Given the description of an element on the screen output the (x, y) to click on. 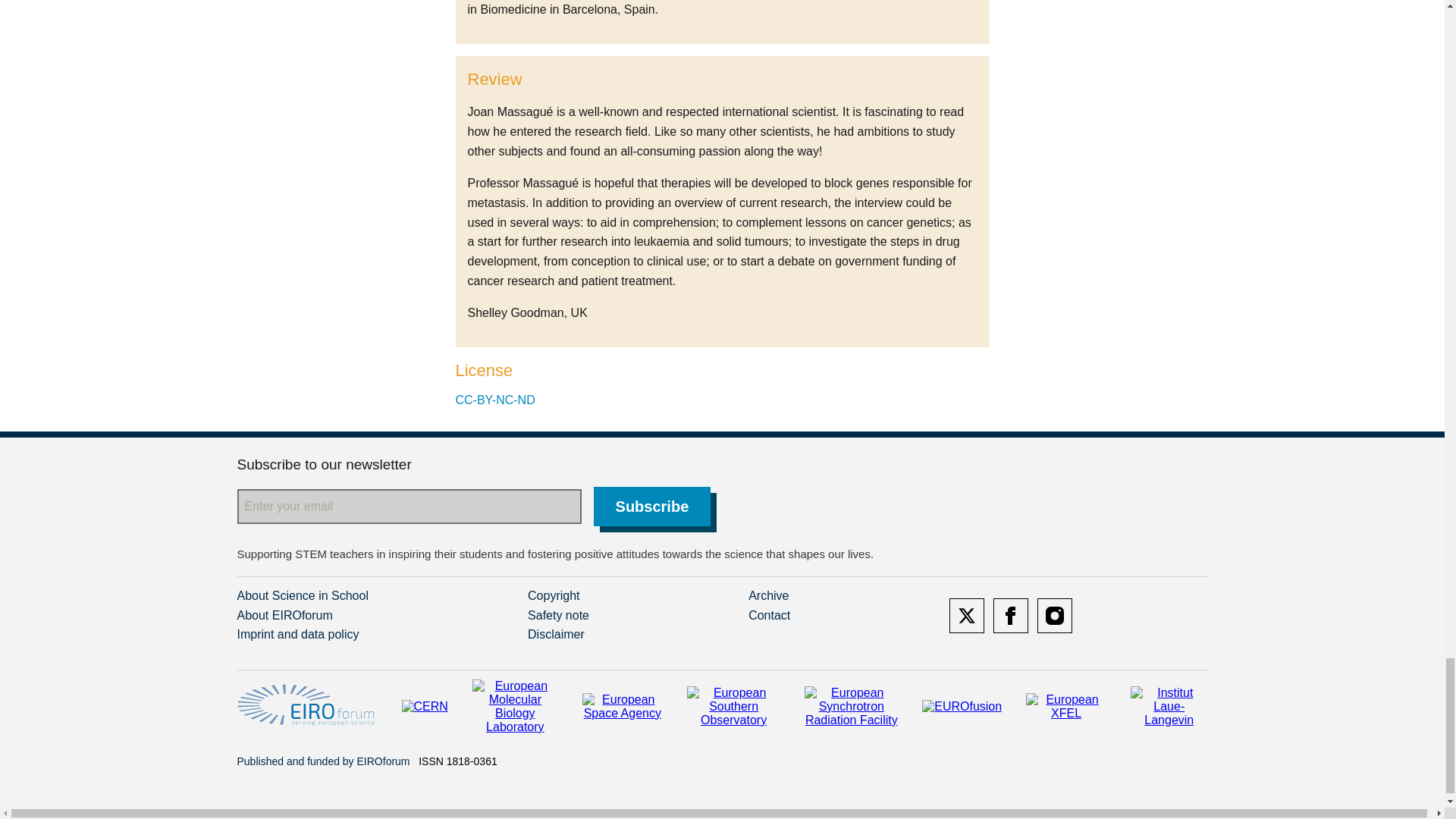
CC-BY-NC-ND (494, 399)
European Space Agency (622, 706)
European Molecular Biology Laboratory (514, 706)
EUROfusion (961, 706)
CERN (424, 706)
European Synchrotron Radiation Facility (851, 706)
Institut Laue-Langevin (1169, 706)
European XFEL (1066, 706)
European Southern Observatory (733, 706)
